Given the description of an element on the screen output the (x, y) to click on. 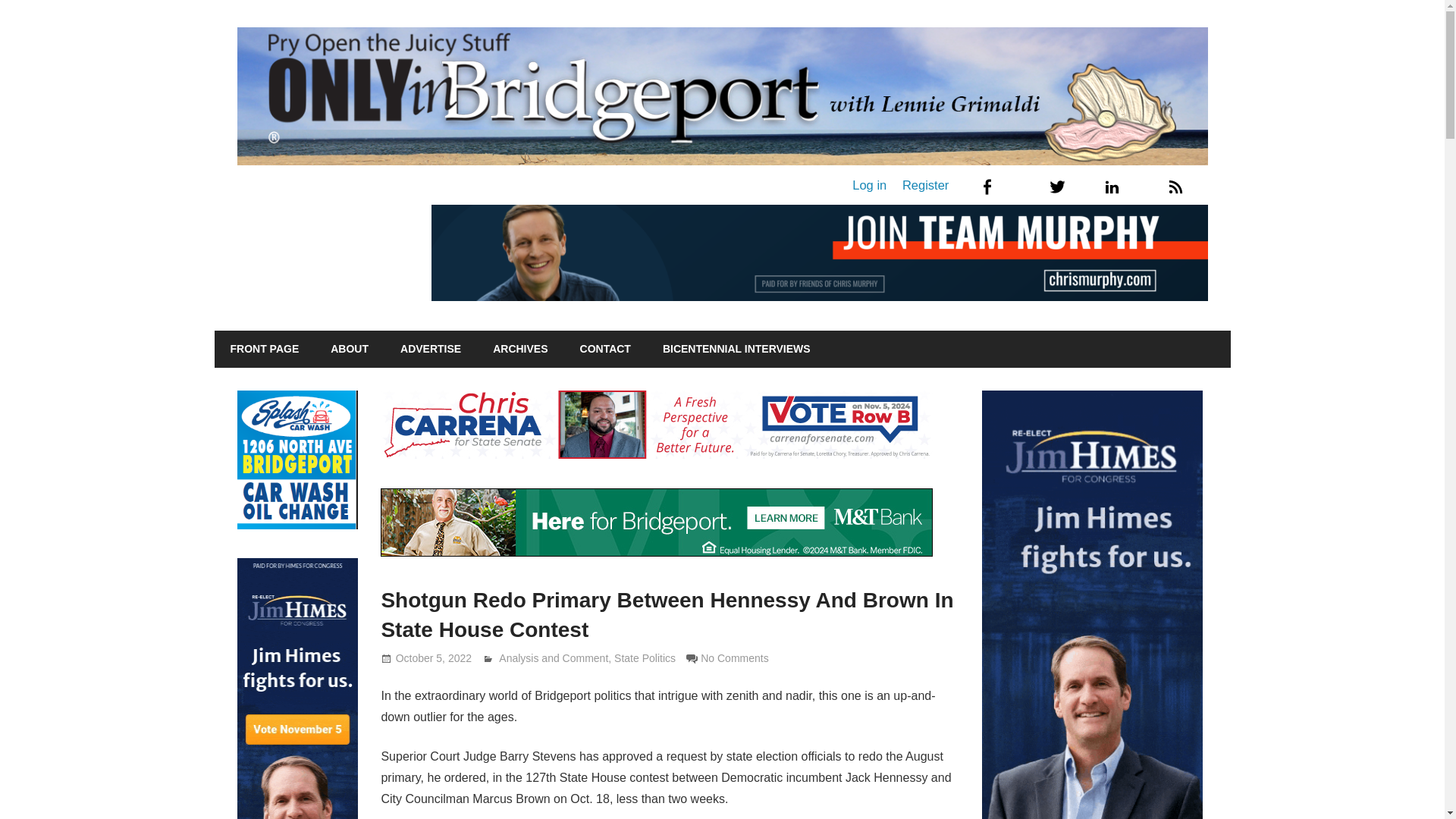
State Politics (644, 657)
No Comments (734, 657)
ABOUT (349, 349)
Lennie Grimaldi (536, 657)
8:12 pm (433, 657)
FRONT PAGE (264, 349)
Register (925, 184)
BICENTENNIAL INTERVIEWS (736, 349)
ARCHIVES (520, 349)
October 5, 2022 (433, 657)
